Given the description of an element on the screen output the (x, y) to click on. 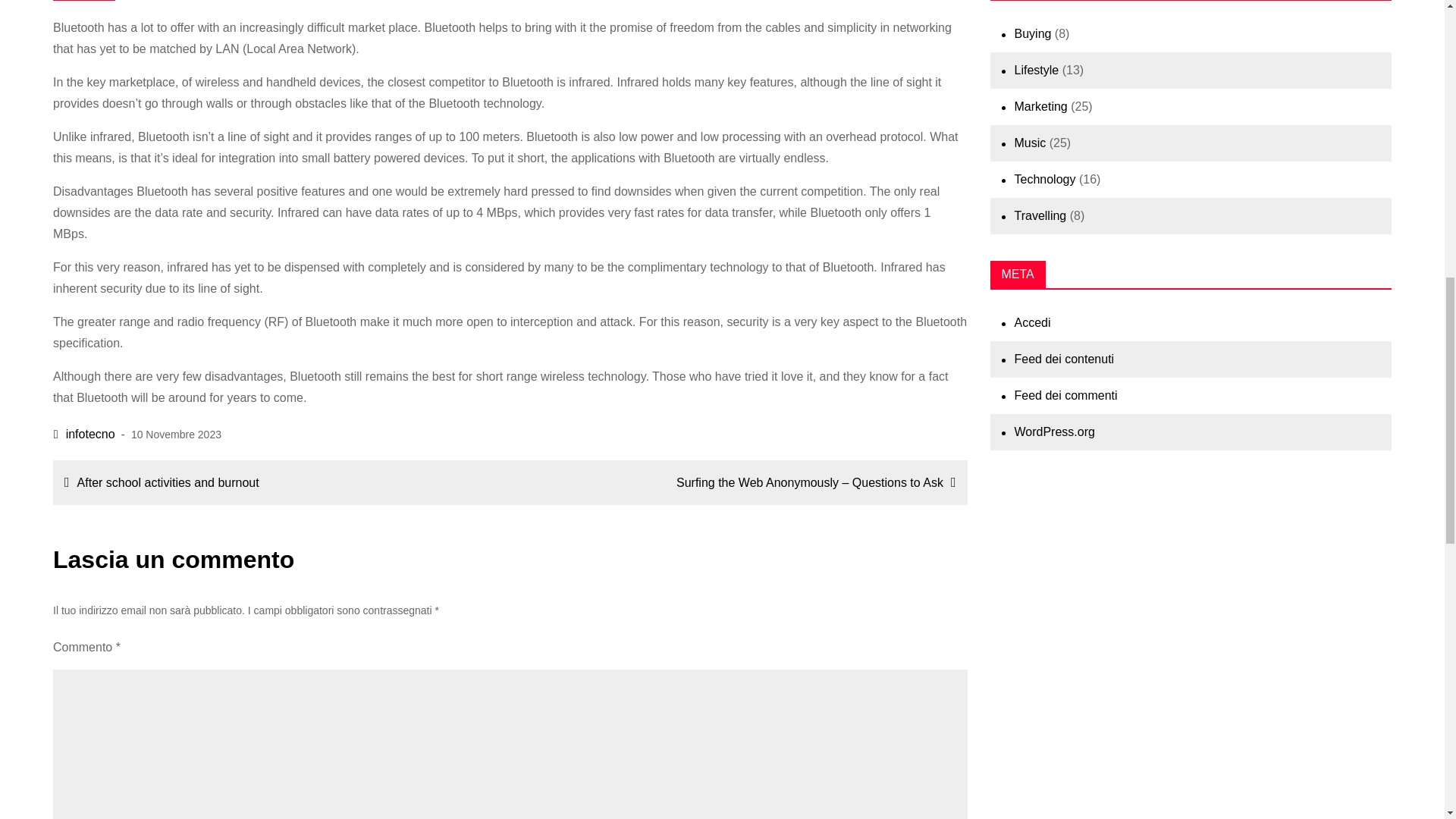
Music (1030, 142)
Accedi (1032, 322)
Technology (1044, 178)
Marketing (1040, 106)
Feed dei contenuti (1064, 358)
WordPress.org (1054, 431)
Travelling (1040, 215)
Technology (83, 0)
Buying (1032, 33)
After school activities and burnout (278, 482)
Feed dei commenti (1066, 395)
10 Novembre 2023 (176, 434)
Lifestyle (1036, 69)
infotecno (84, 433)
